Given the description of an element on the screen output the (x, y) to click on. 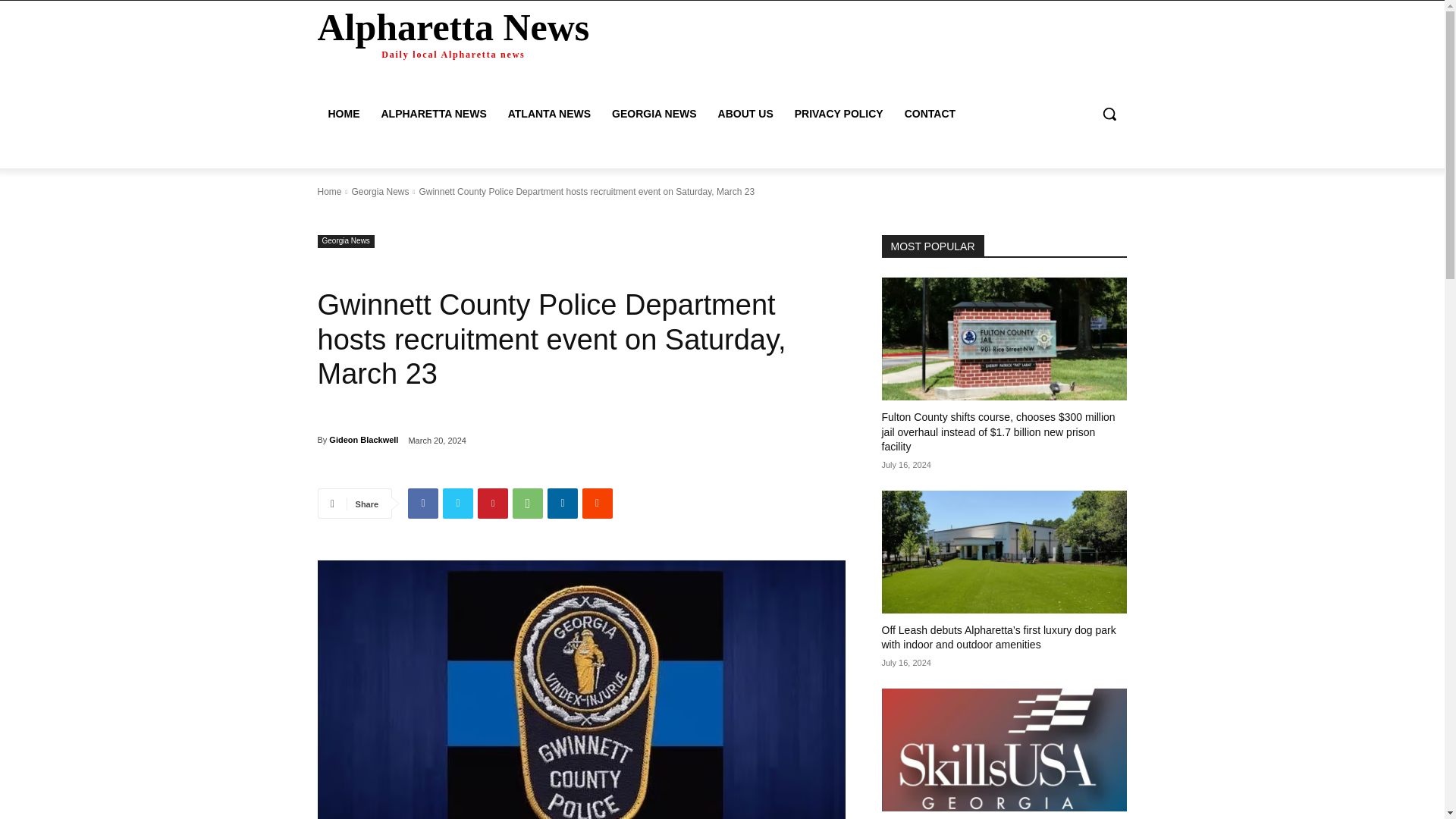
ABOUT US (745, 113)
Georgia News (345, 241)
GEORGIA NEWS (654, 113)
Georgia News (379, 191)
ATLANTA NEWS (549, 113)
HOME (343, 113)
Linkedin (562, 503)
Facebook (422, 503)
WhatsApp (527, 503)
View all posts in Georgia News (379, 191)
Twitter (457, 503)
PRIVACY POLICY (838, 113)
Gideon Blackwell (363, 439)
ALPHARETTA NEWS (432, 113)
